Given the description of an element on the screen output the (x, y) to click on. 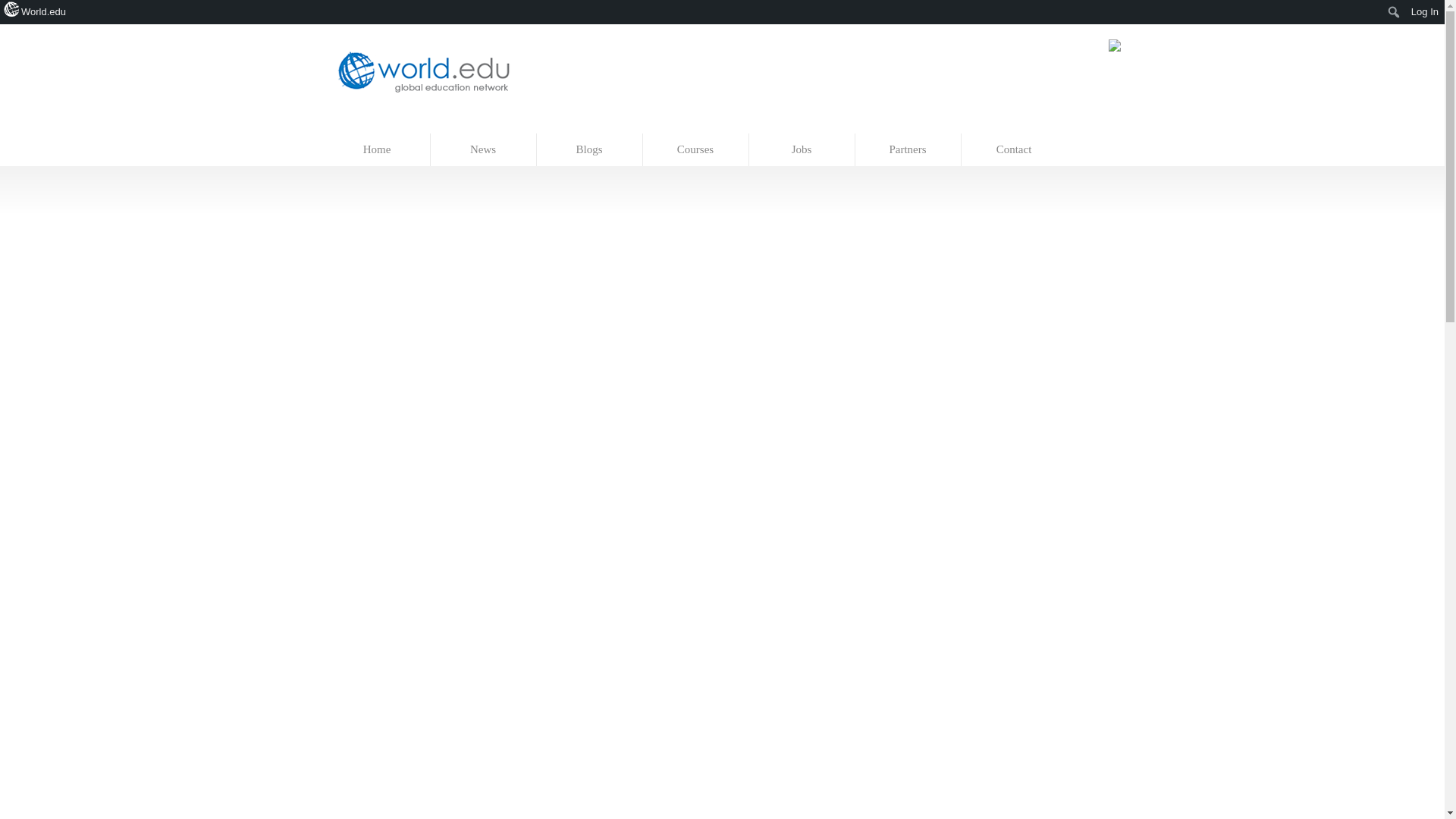
Jobs (802, 149)
Contact (1013, 149)
News (483, 149)
Skip to content (357, 125)
Home (377, 149)
Courses (696, 149)
Blogs (590, 149)
Skip to content (357, 125)
Partners (908, 149)
